Given the description of an element on the screen output the (x, y) to click on. 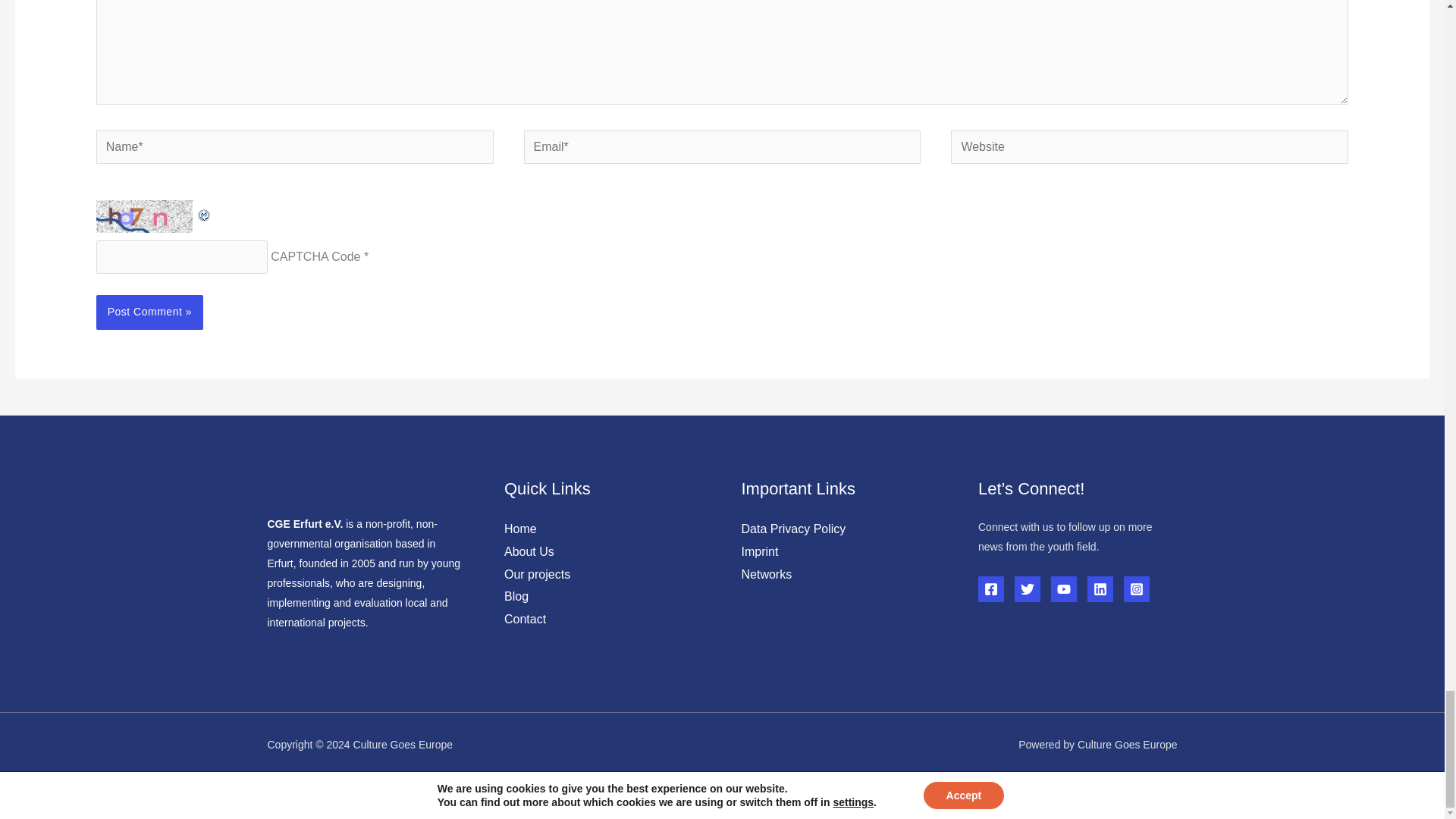
Networks (766, 574)
Contact (524, 618)
Refresh (204, 210)
Home (520, 528)
Data Privacy Policy (793, 528)
About Us (528, 551)
Blog (515, 595)
Our projects (536, 574)
Imprint (759, 551)
CAPTCHA (146, 215)
